Given the description of an element on the screen output the (x, y) to click on. 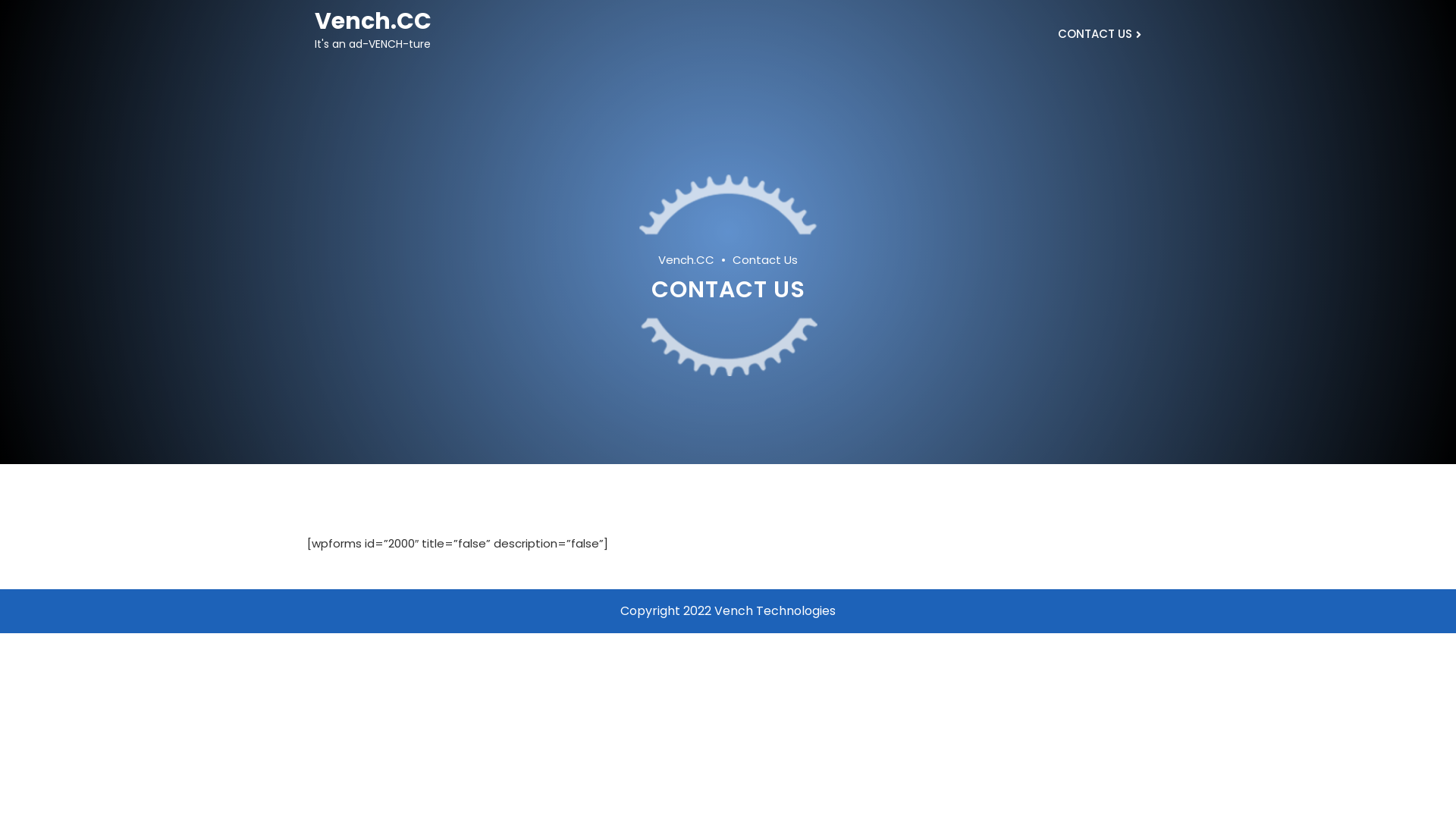
Vench.CC Element type: text (372, 21)
Vench.CC Element type: text (695, 260)
CONTACT US Element type: text (1097, 34)
